Given the description of an element on the screen output the (x, y) to click on. 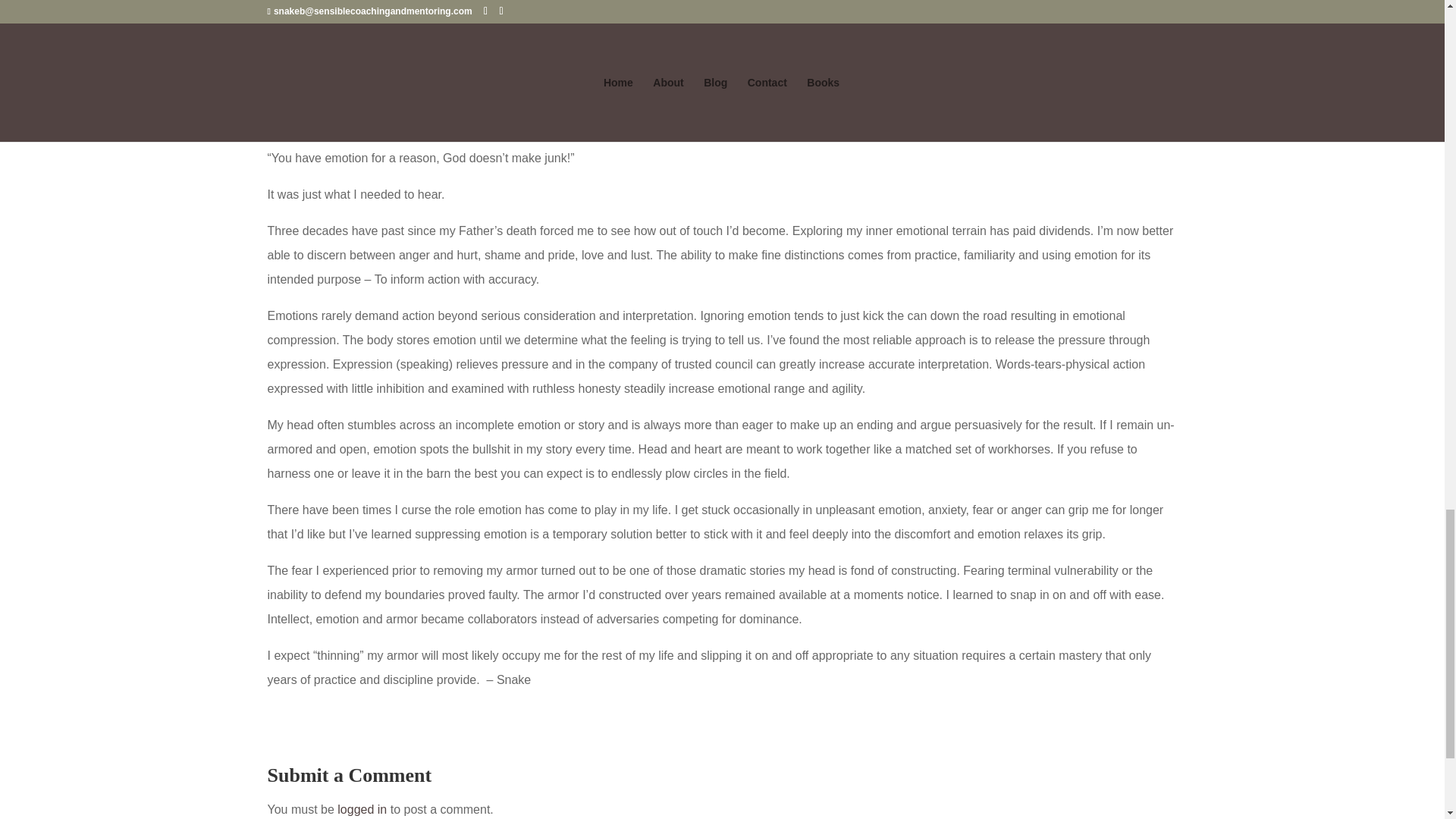
logged in (362, 809)
